Given the description of an element on the screen output the (x, y) to click on. 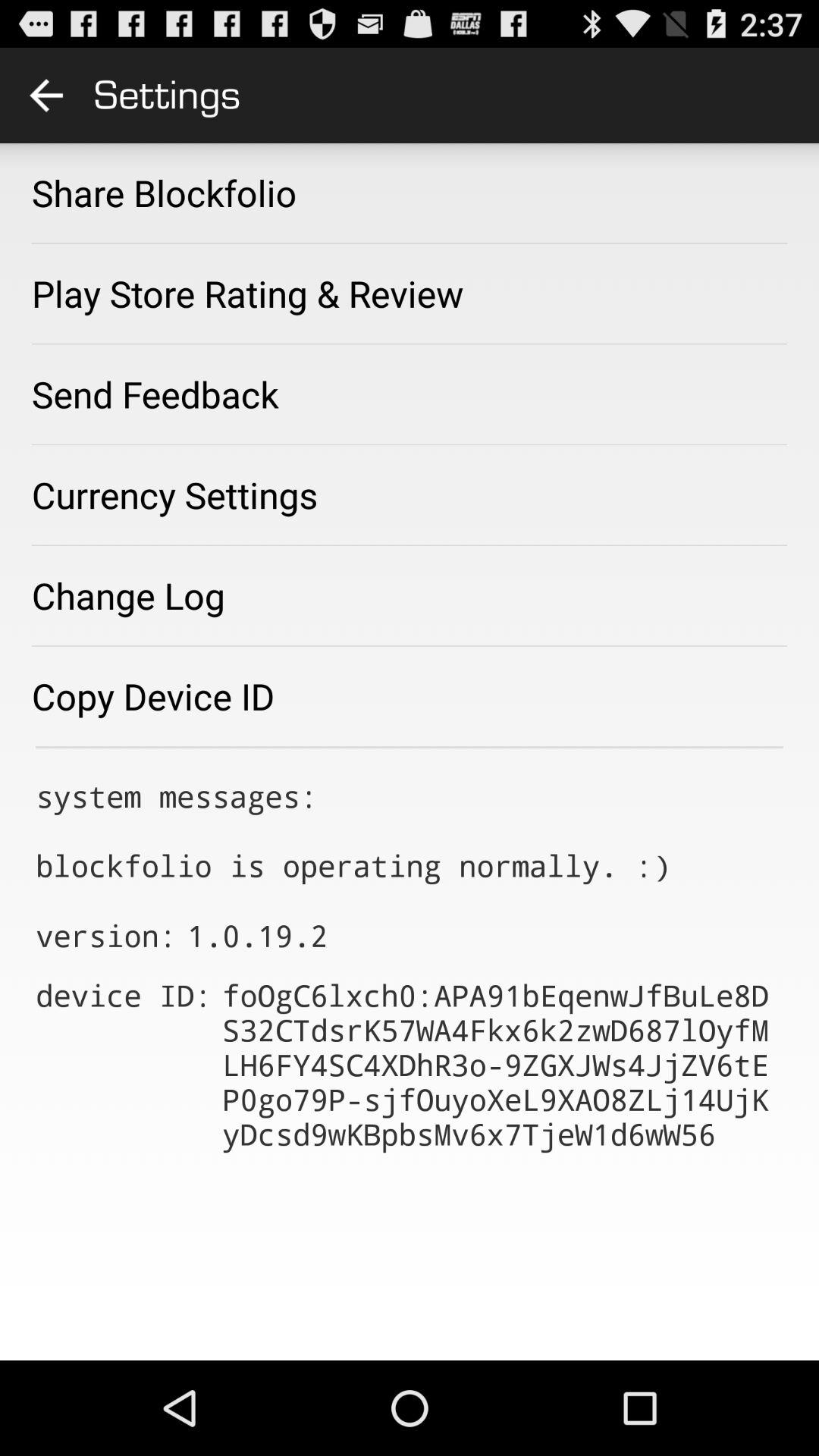
swipe to share blockfolio item (163, 192)
